Given the description of an element on the screen output the (x, y) to click on. 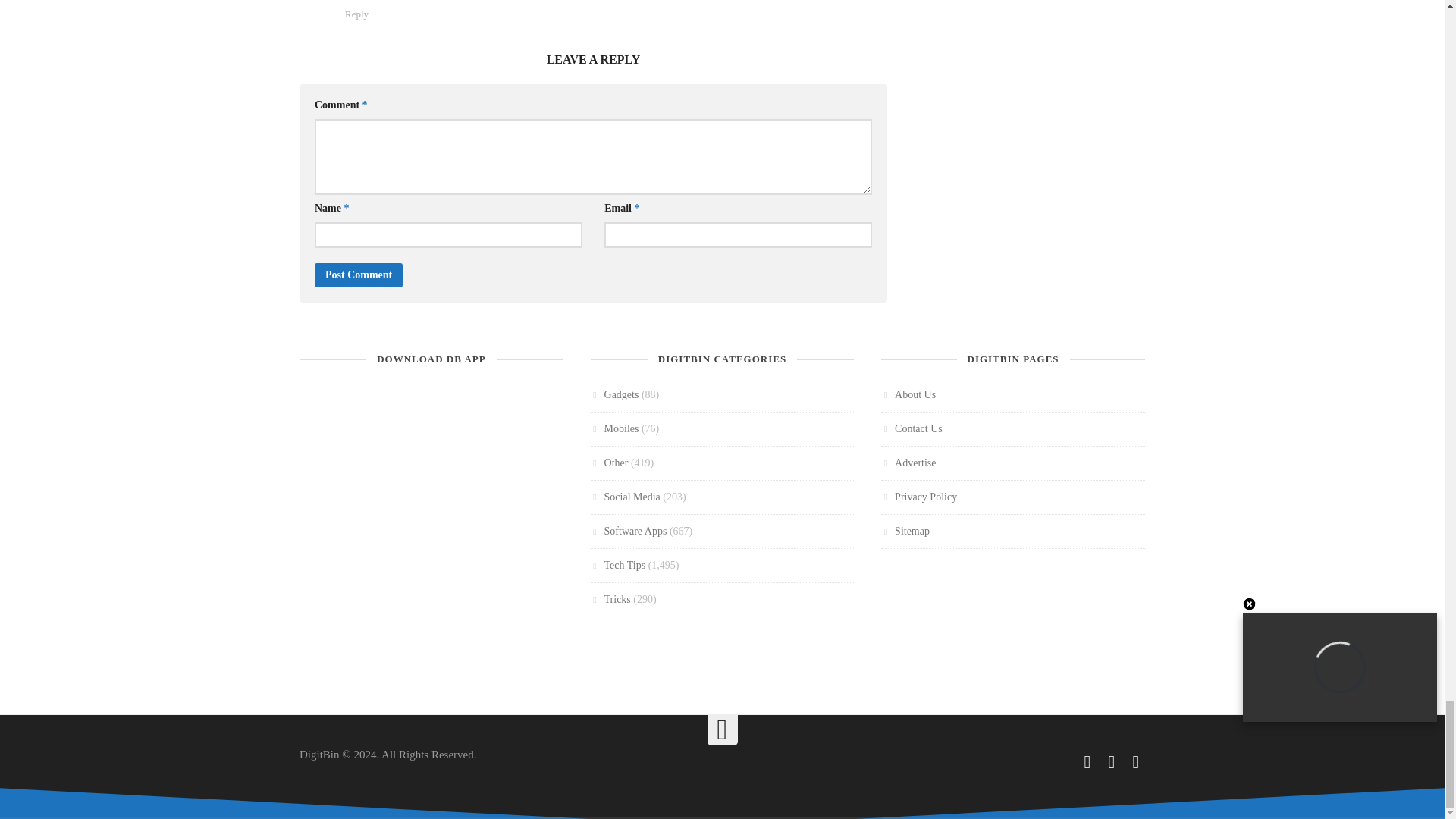
Post Comment (358, 274)
